Given the description of an element on the screen output the (x, y) to click on. 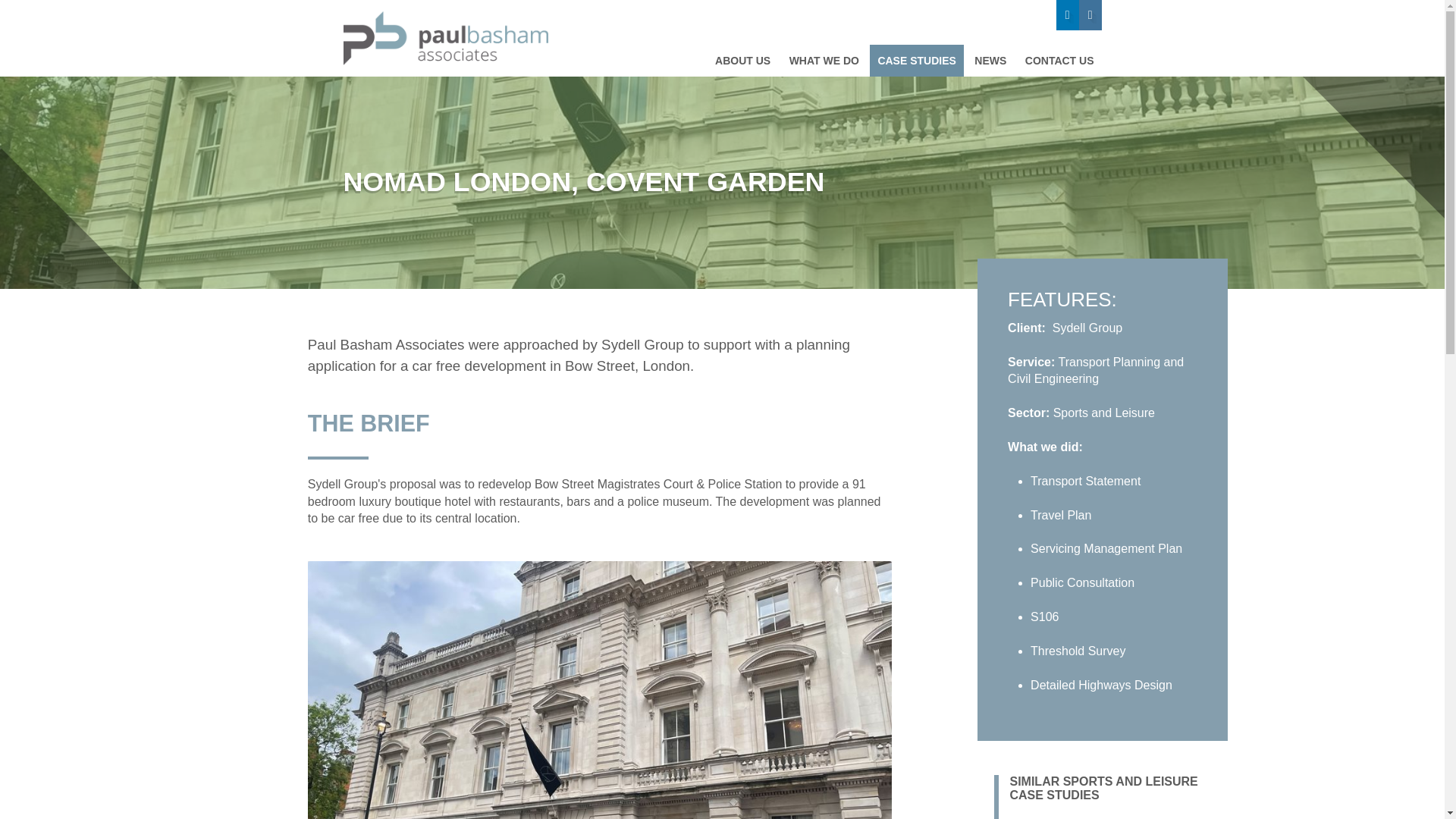
CONTACT US (1059, 60)
CASE STUDIES (915, 60)
NEWS (989, 60)
ABOUT US (742, 60)
WHAT WE DO (823, 60)
